Given the description of an element on the screen output the (x, y) to click on. 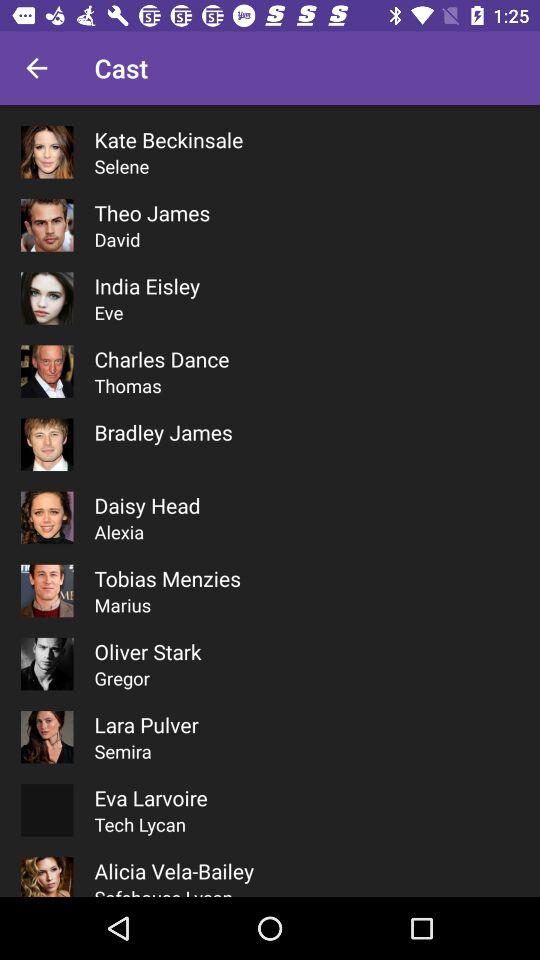
click the item below the selene (152, 212)
